Given the description of an element on the screen output the (x, y) to click on. 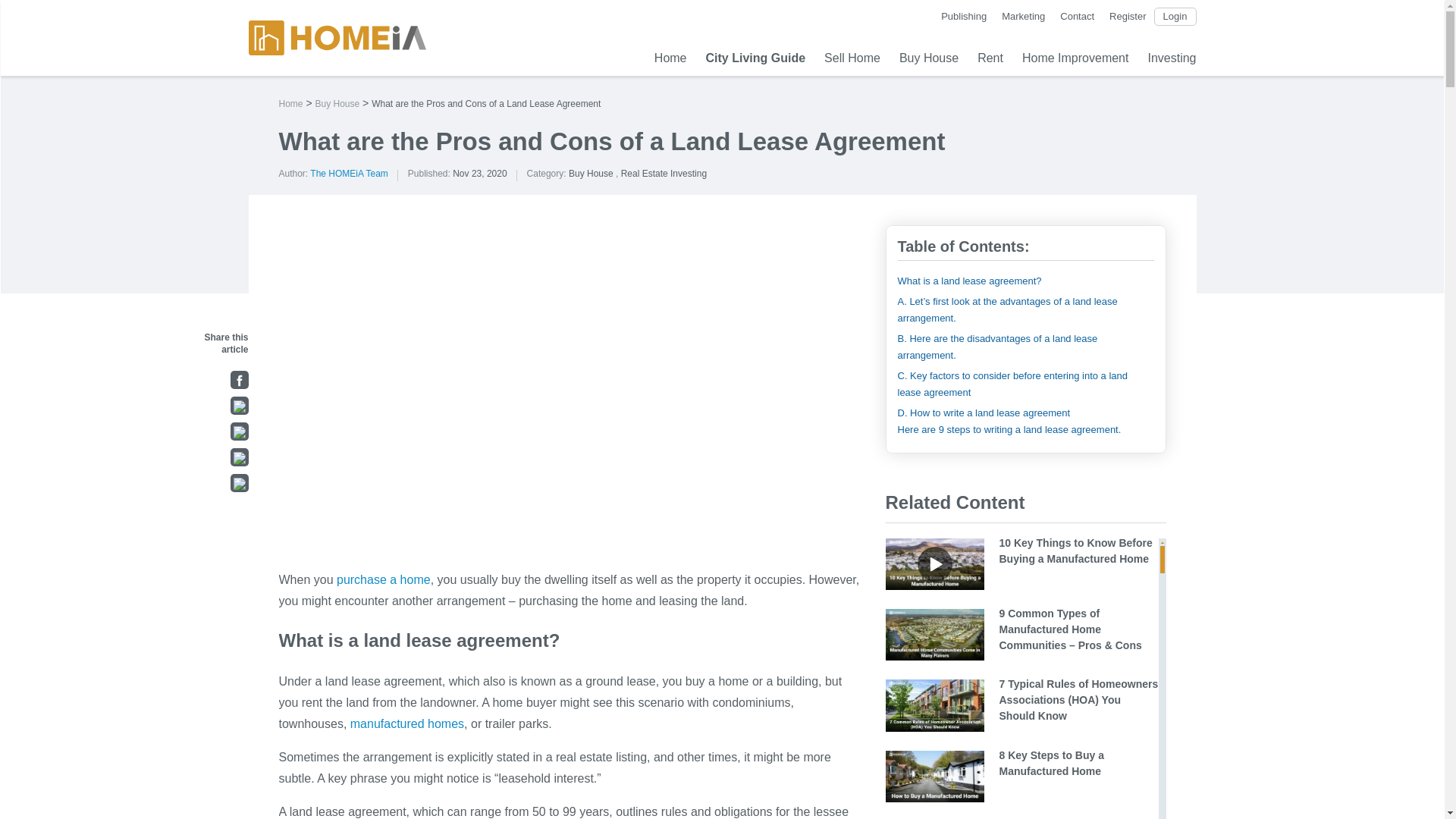
Buy House (590, 173)
Publishing (963, 16)
City Living Guide (756, 57)
Login (1175, 17)
Home (670, 57)
Sell Home (852, 57)
Contact (1076, 16)
10 Key Things to Know Before Buying a Manufactured Home (407, 723)
Home (290, 103)
purchase a home (383, 579)
Buy House (336, 103)
Rent (989, 57)
manufactured homes (407, 723)
Buy House (928, 57)
Register (1127, 16)
